Given the description of an element on the screen output the (x, y) to click on. 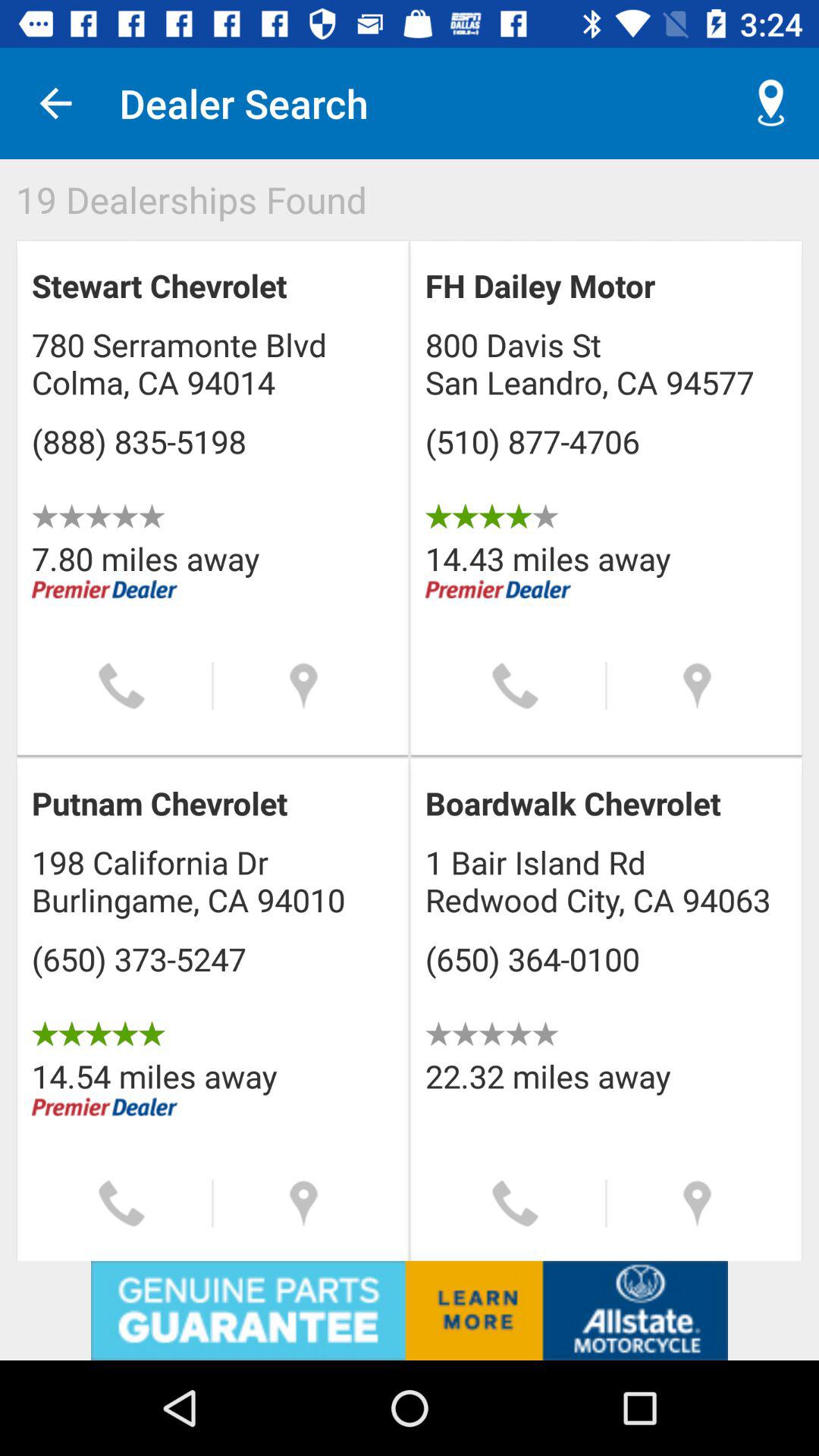
show the location on a map (697, 1203)
